Given the description of an element on the screen output the (x, y) to click on. 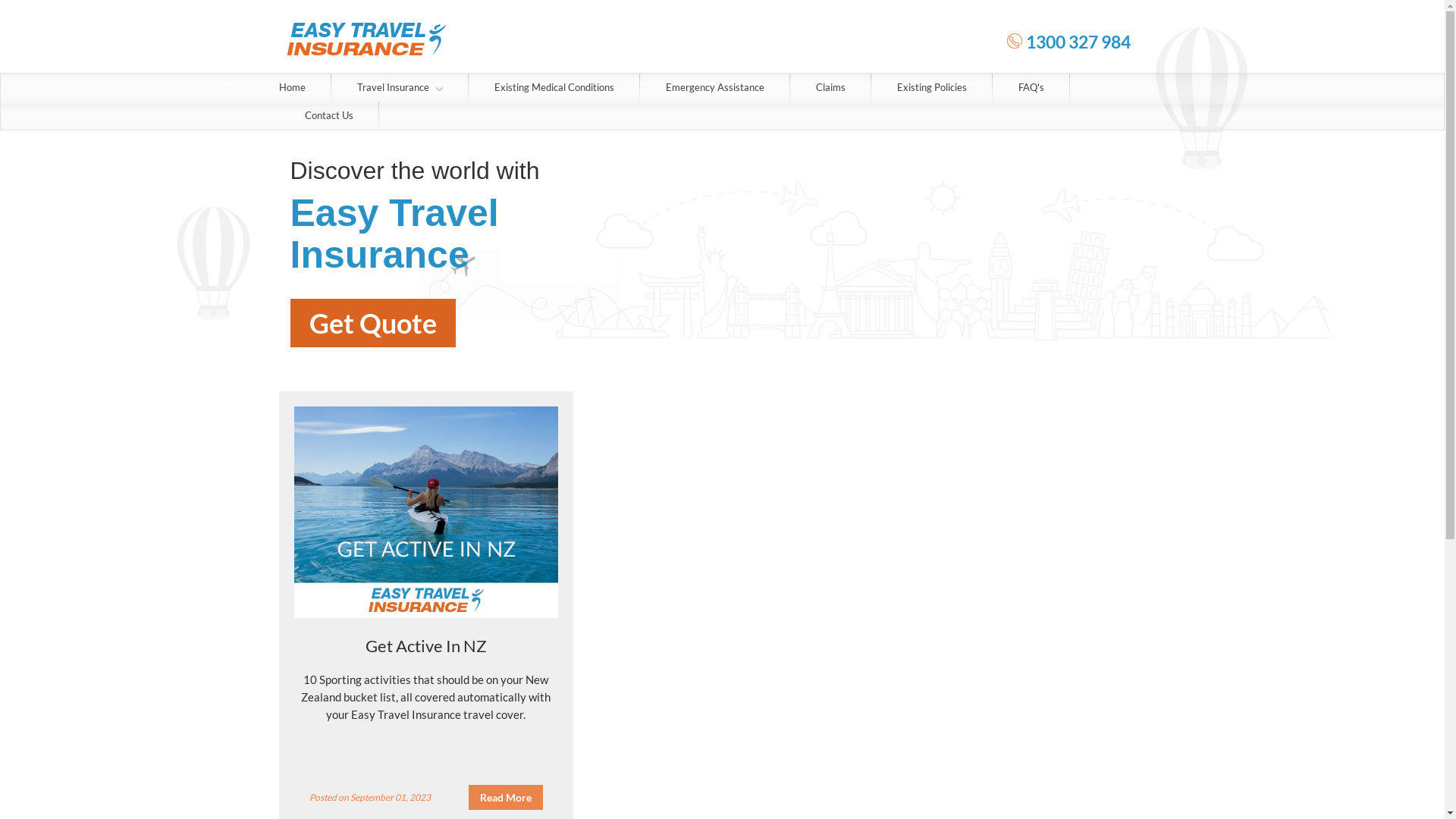
Existing Medical Conditions Element type: text (554, 87)
Existing Policies Element type: text (931, 87)
Travel Insurance    Element type: text (399, 87)
Home Element type: text (292, 87)
Posted on September 01, 2023 Element type: text (369, 797)
Contact Us Element type: text (328, 115)
read more Element type: text (505, 796)
Emergency Assistance Element type: text (714, 87)
FAQ'S Element type: text (1030, 87)
Get Quote Element type: text (372, 322)
Claims Element type: text (830, 87)
